Given the description of an element on the screen output the (x, y) to click on. 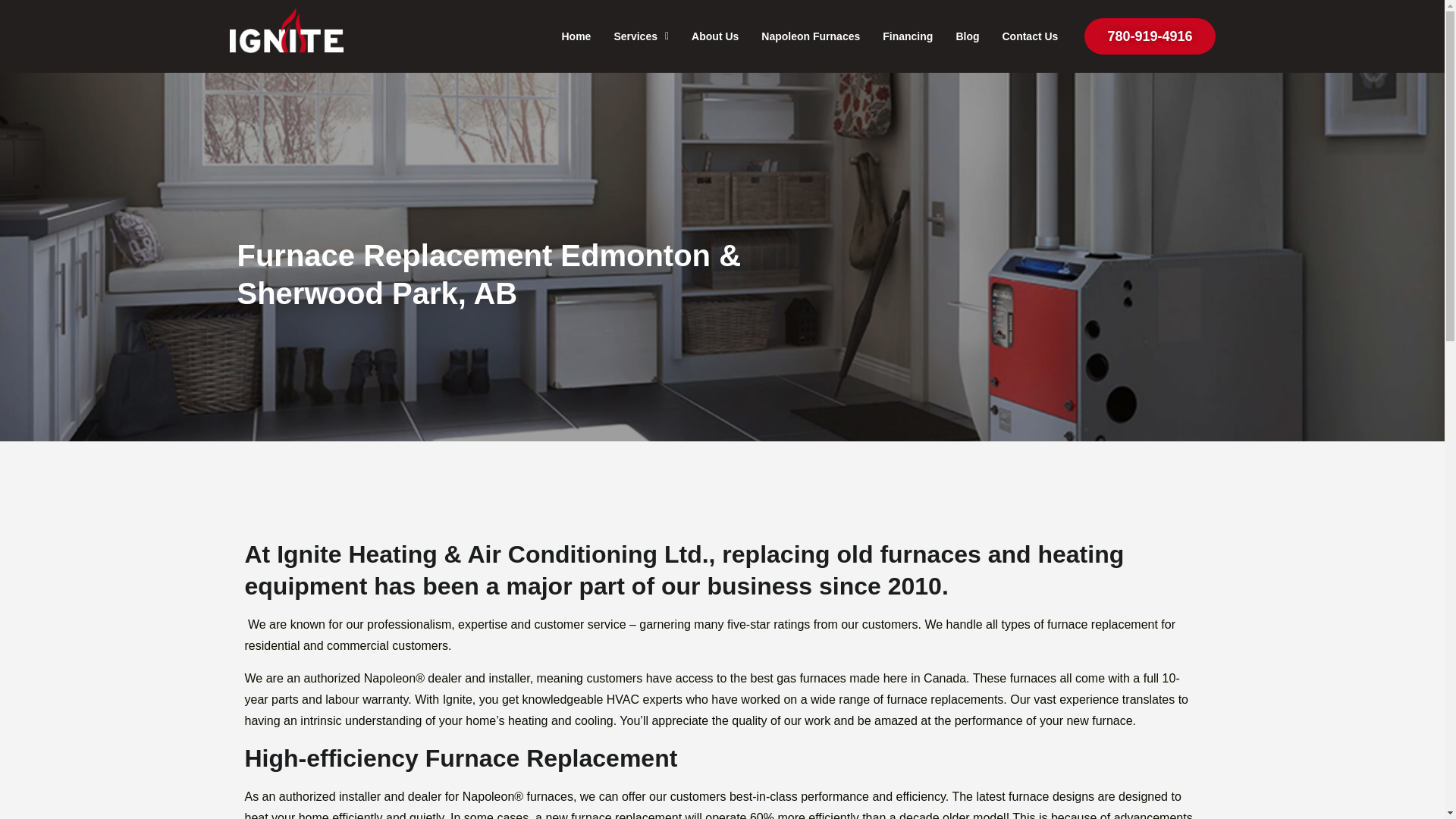
Home (575, 36)
Financing (907, 36)
Contact Us (1029, 36)
About Us (714, 36)
Napoleon Furnaces (810, 36)
Services (640, 36)
